Given the description of an element on the screen output the (x, y) to click on. 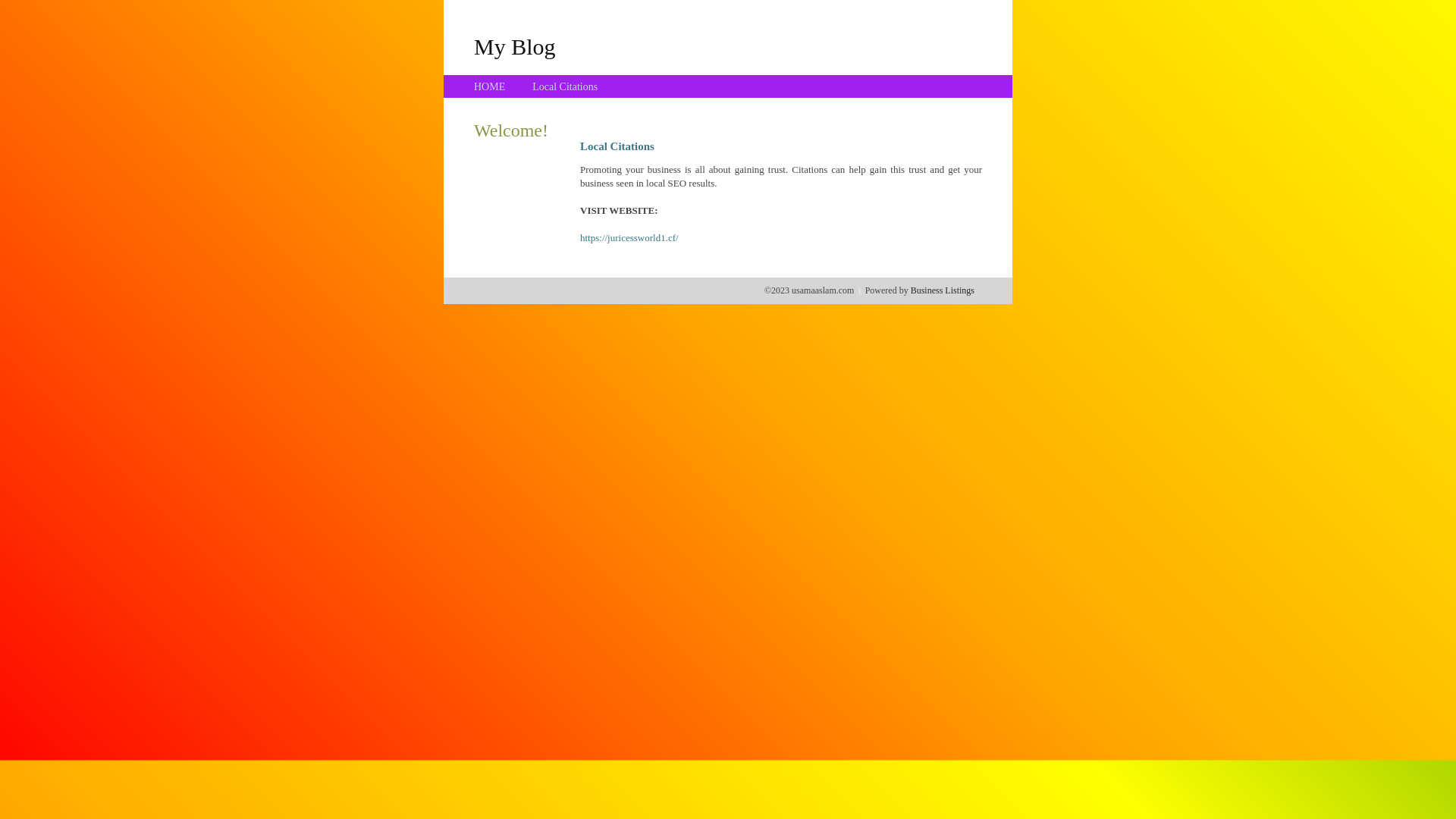
Business Listings Element type: text (942, 290)
My Blog Element type: text (514, 46)
Local Citations Element type: text (564, 86)
HOME Element type: text (489, 86)
https://juricessworld1.cf/ Element type: text (629, 237)
